Given the description of an element on the screen output the (x, y) to click on. 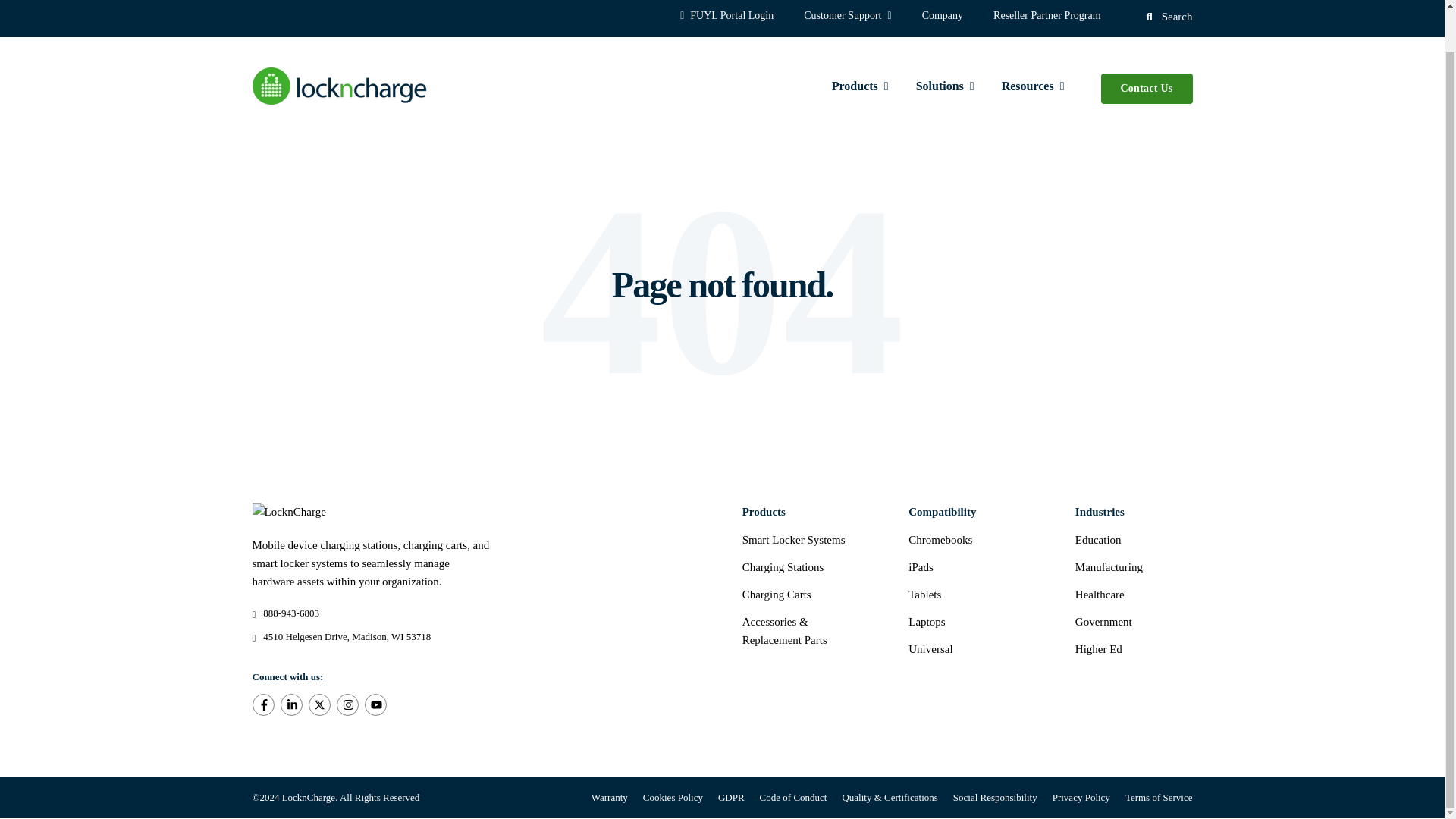
Customer Support (847, 15)
LocknCharge (287, 511)
LocknCharge (338, 85)
Company (942, 15)
FUYL Portal Login (727, 15)
Reseller Partner Program (1047, 15)
Products (860, 88)
